Given the description of an element on the screen output the (x, y) to click on. 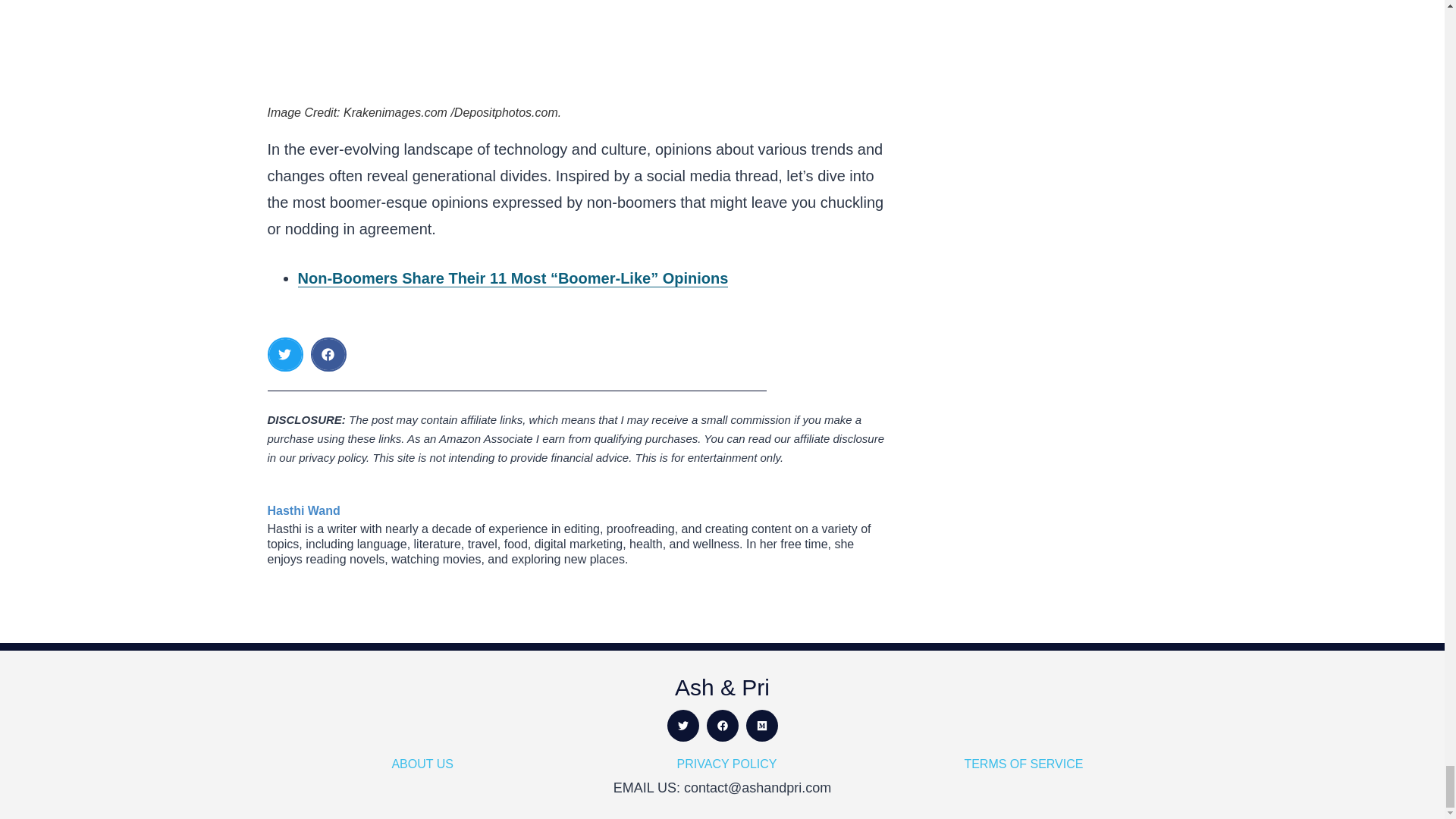
ABOUT US (421, 763)
PRIVACY POLICY (727, 763)
TERMS OF SERVICE (1023, 763)
